Given the description of an element on the screen output the (x, y) to click on. 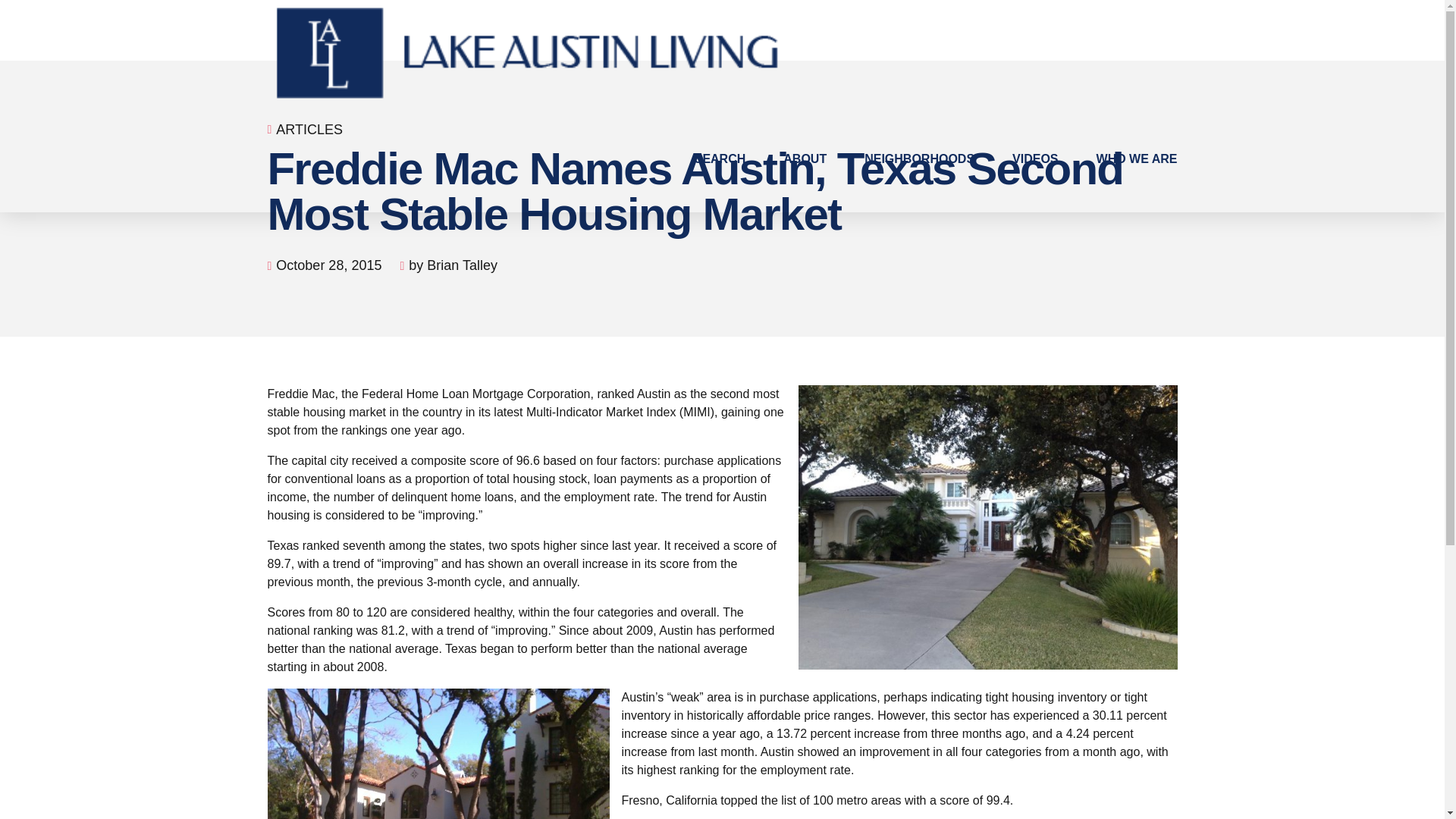
ARTICLES (309, 129)
NEIGHBORHOODS (919, 159)
by Brian Talley (453, 265)
